Given the description of an element on the screen output the (x, y) to click on. 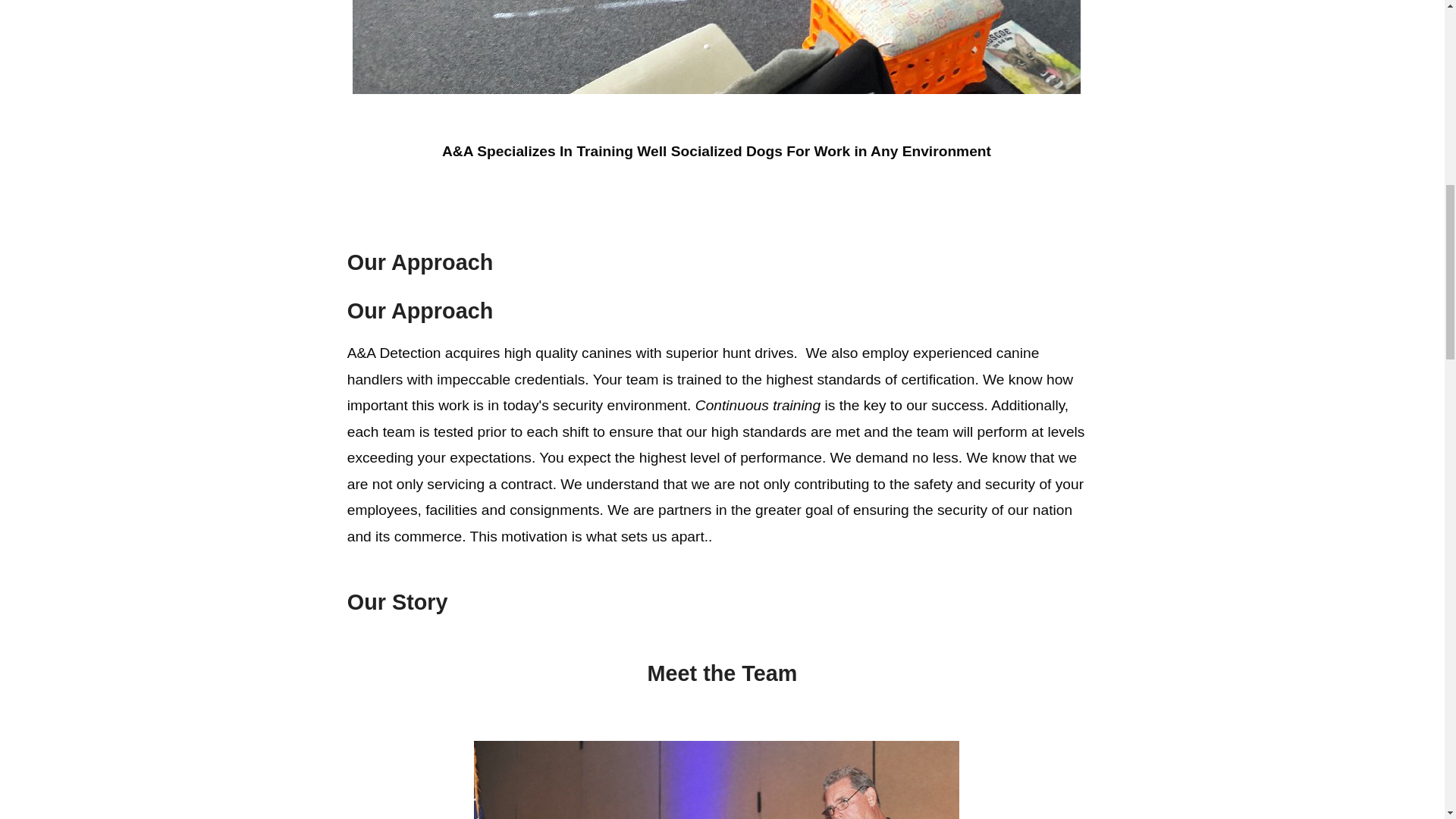
Bob (716, 780)
Scout with kids (716, 47)
